Given the description of an element on the screen output the (x, y) to click on. 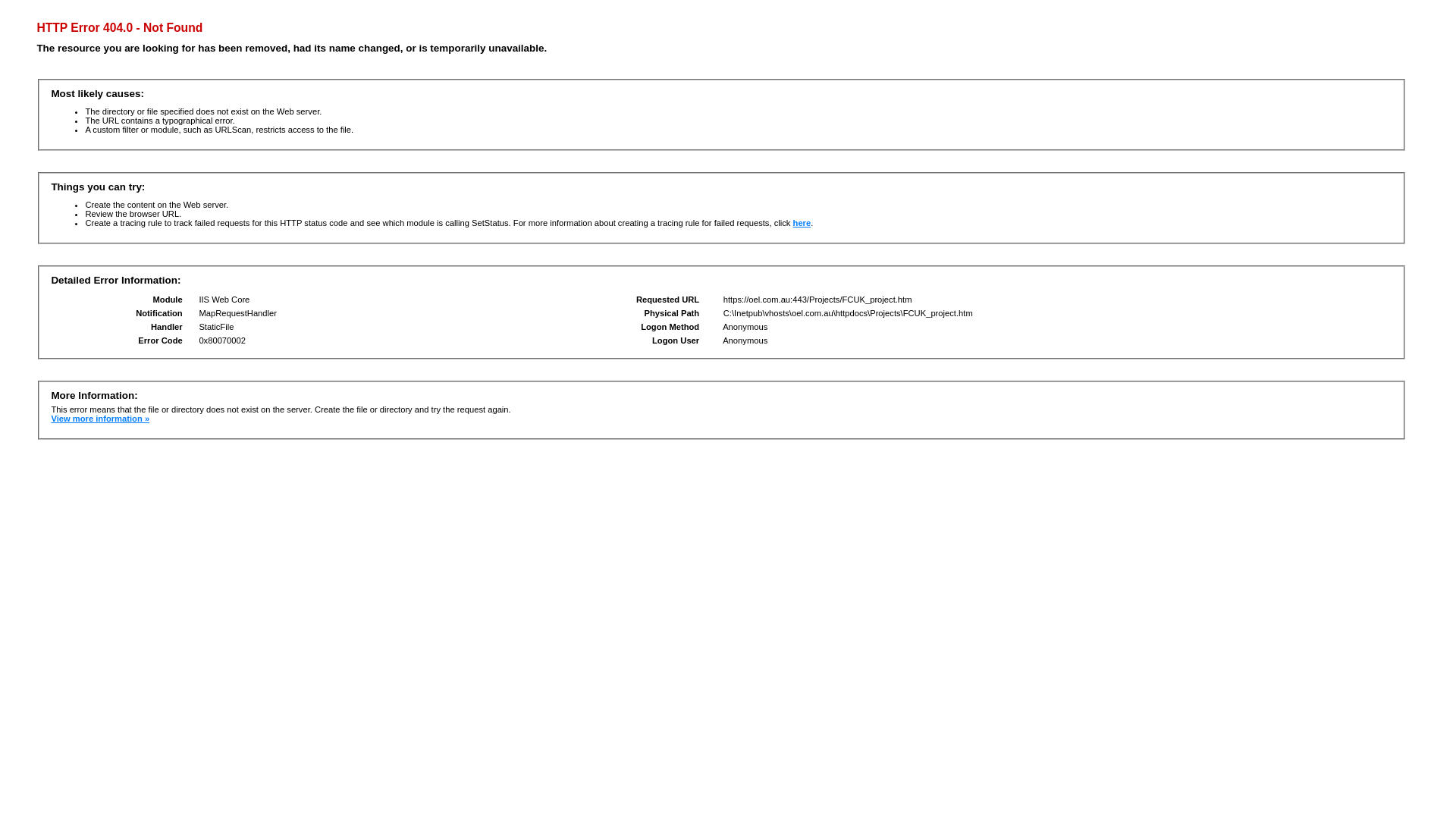
here Element type: text (802, 222)
